Given the description of an element on the screen output the (x, y) to click on. 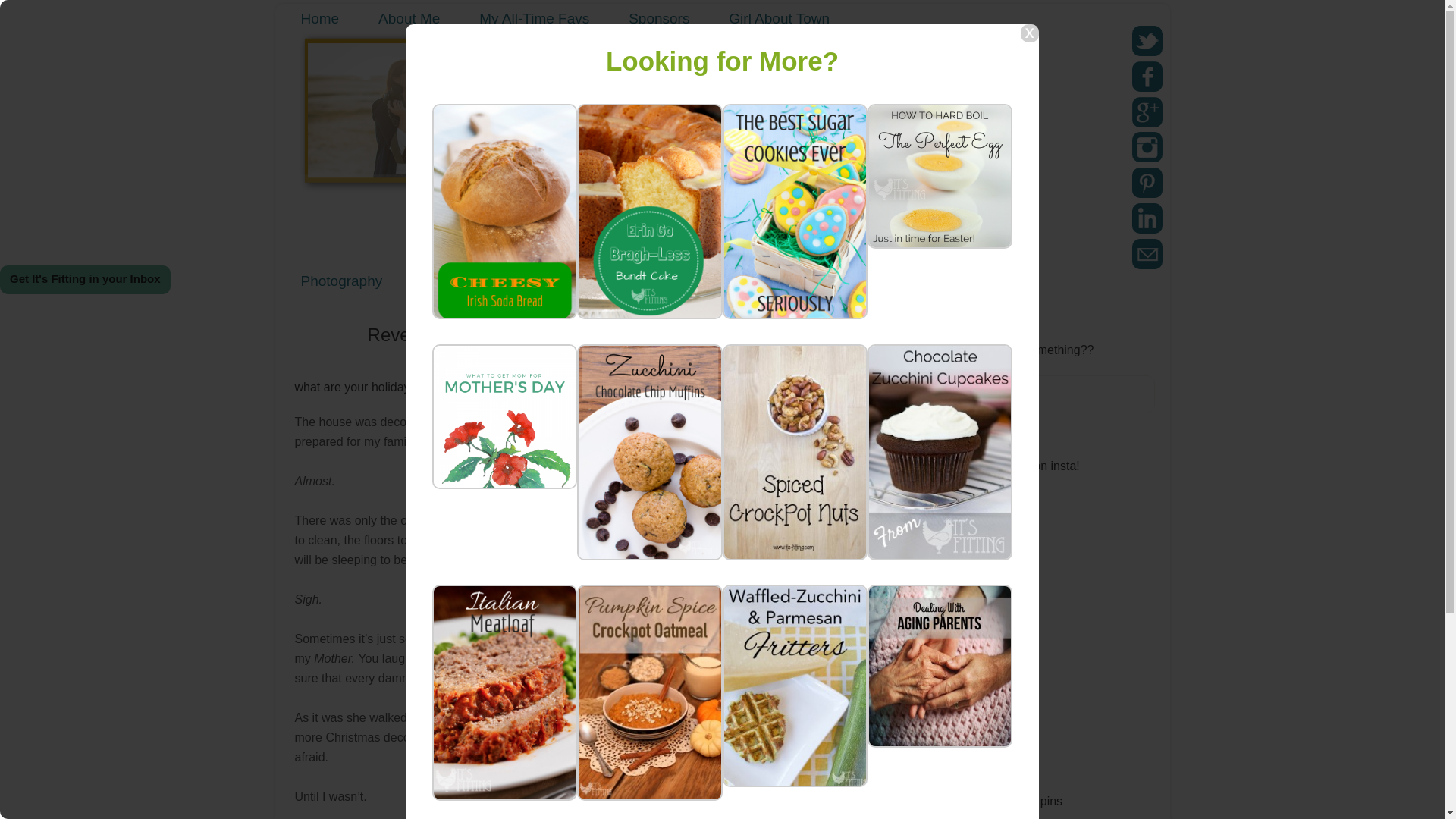
BonBon? (736, 535)
Photography (341, 280)
Farmer Fitting (635, 280)
Good Enough to Eat (486, 280)
Leave a Comment (633, 371)
About Me (408, 18)
My All-Time Favs (534, 18)
Home (319, 18)
Travel (739, 280)
Sponsors (658, 18)
Girl About Town (778, 18)
